Given the description of an element on the screen output the (x, y) to click on. 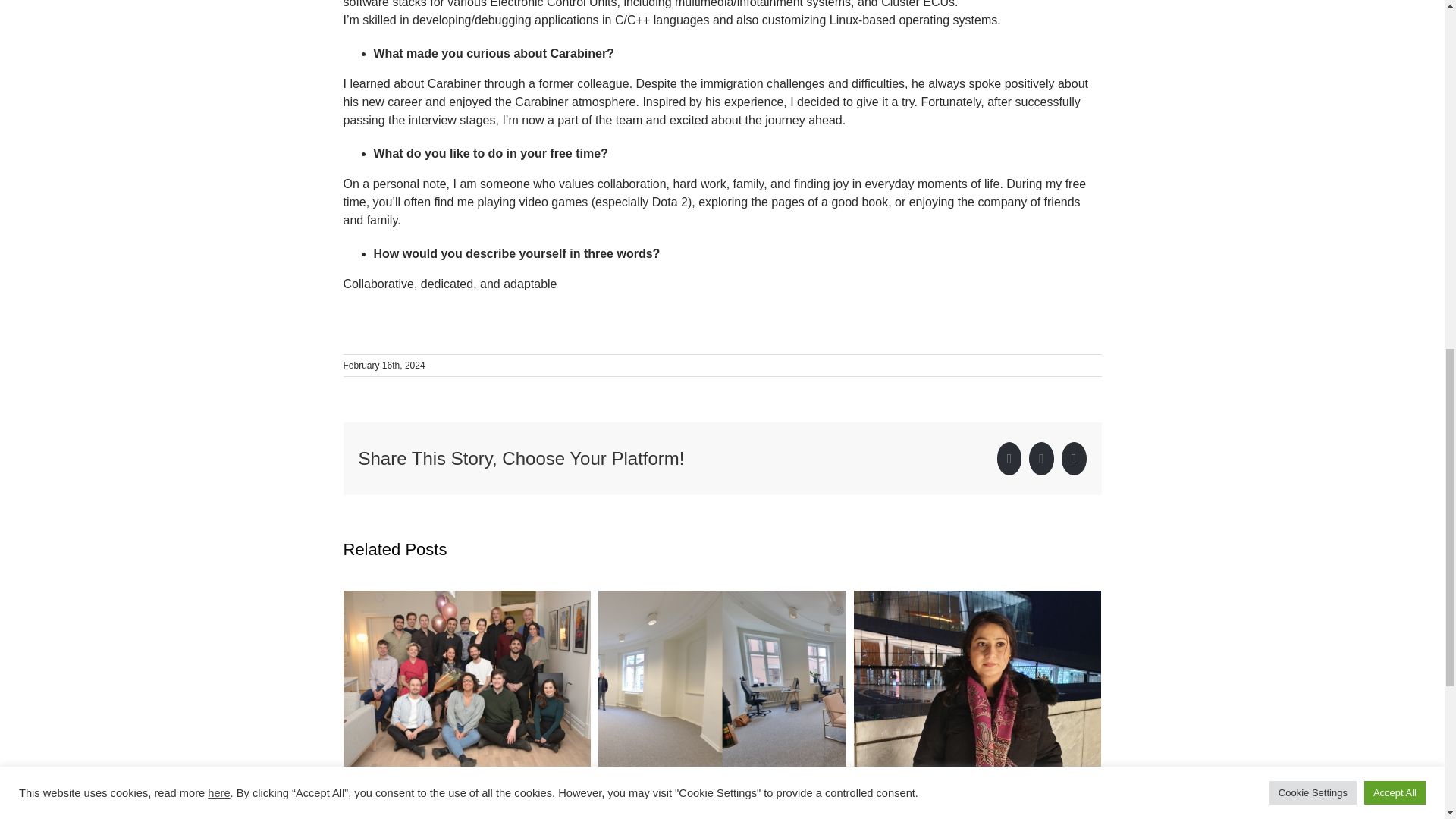
Welcome Faiz (911, 806)
Welcome Faiz (911, 806)
